Given the description of an element on the screen output the (x, y) to click on. 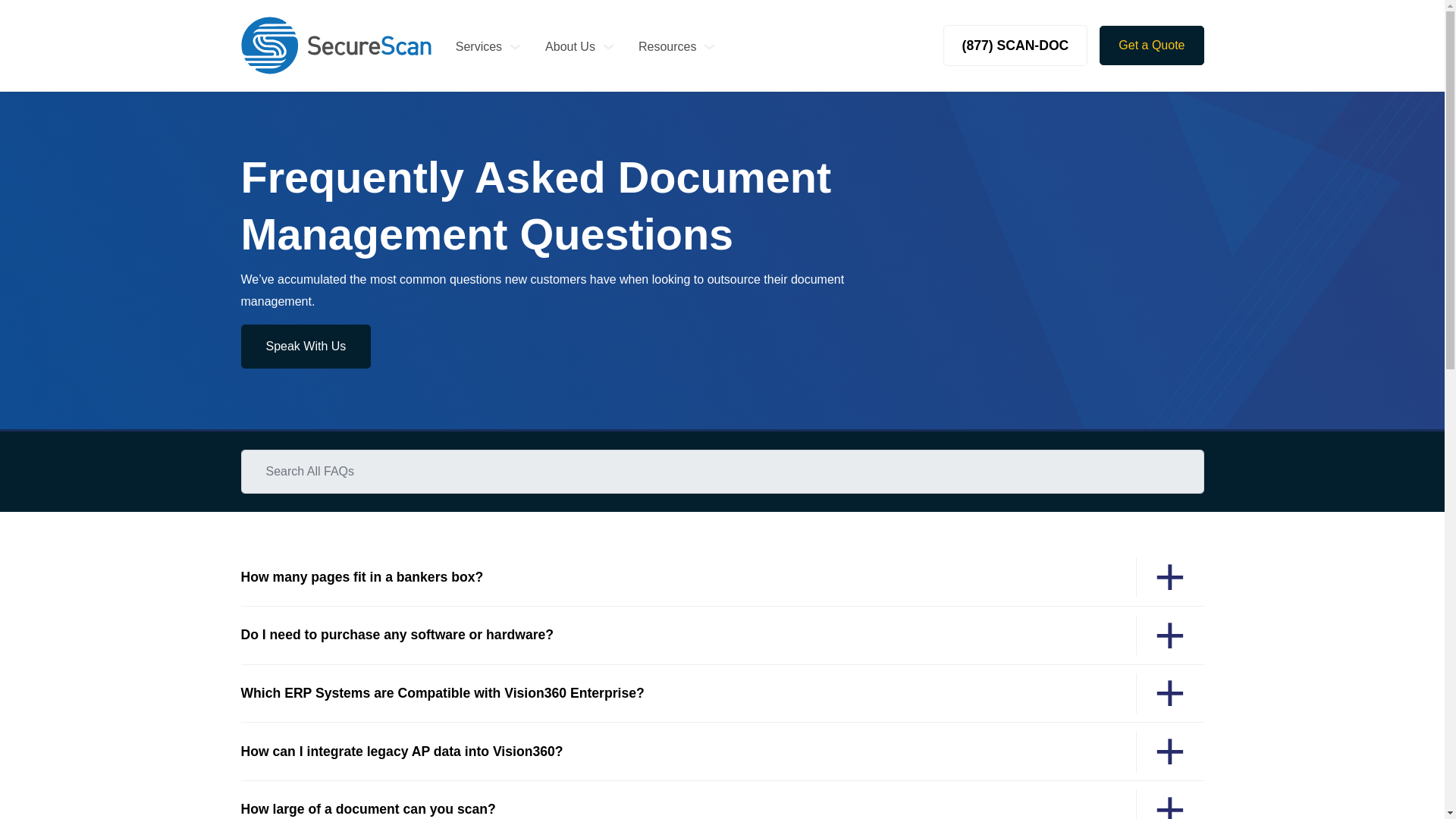
Resources (676, 45)
Get a Quote (1151, 45)
Services (488, 45)
Speak With Us (306, 346)
About Us (579, 45)
